Given the description of an element on the screen output the (x, y) to click on. 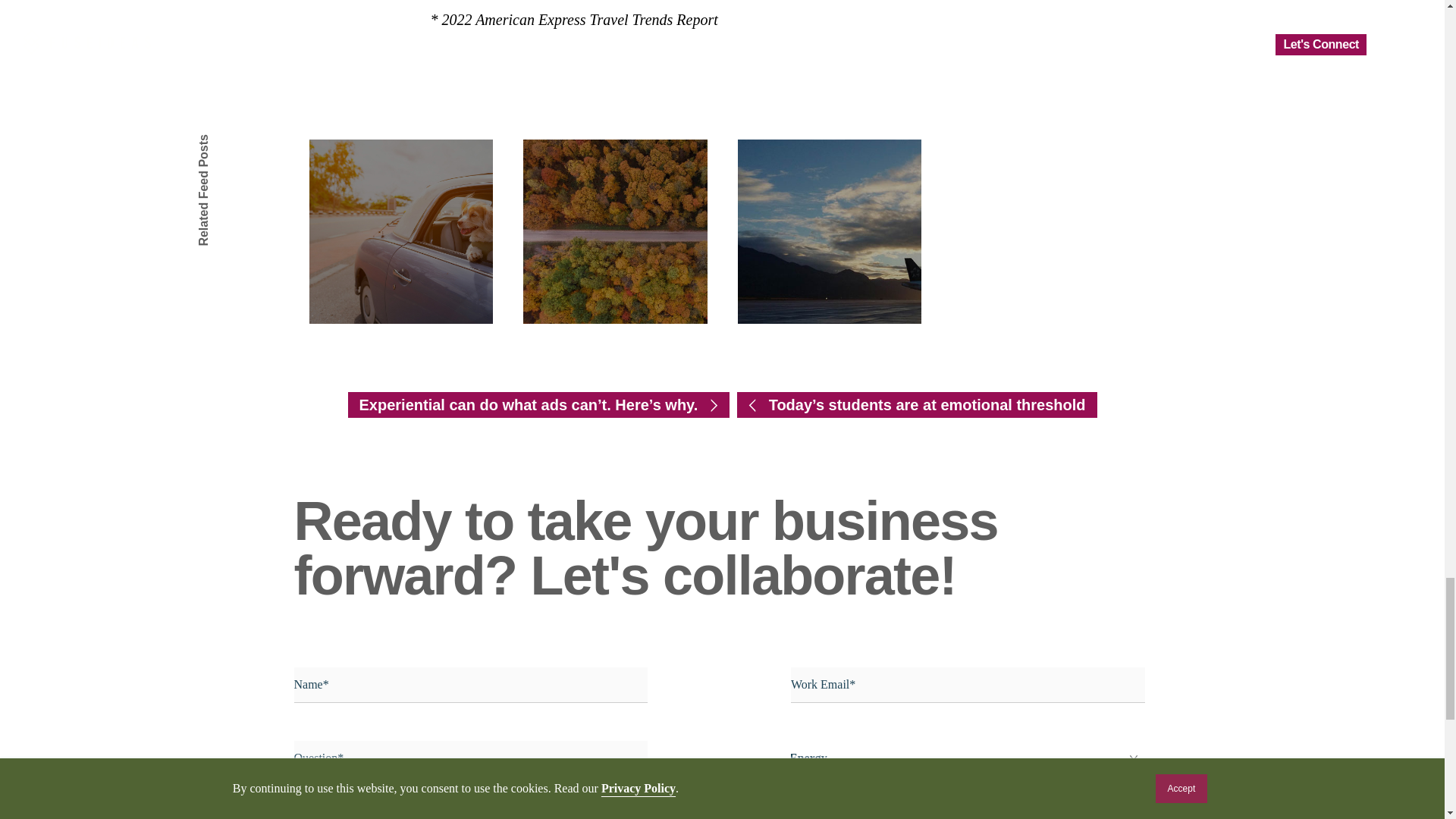
How DMOs Can Act Fast in the Age of Slow Travel (400, 231)
Your autumn visitors are closer than you think. (614, 231)
Airport Marketing in the Post Pandemic Era (828, 231)
